Given the description of an element on the screen output the (x, y) to click on. 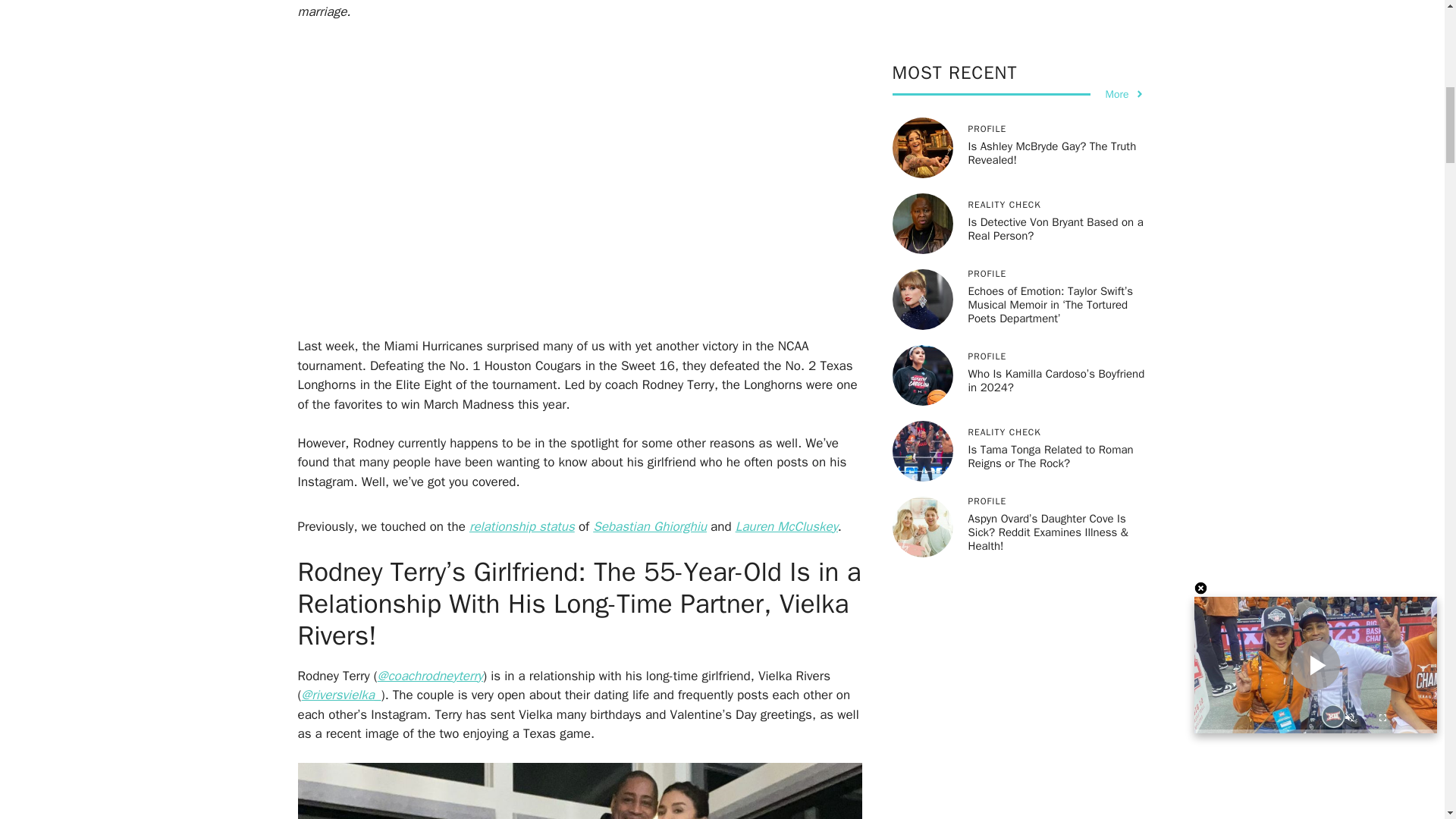
Lauren McCluskey (786, 526)
relationship status (521, 526)
Sebastian Ghiorghiu (649, 526)
